Given the description of an element on the screen output the (x, y) to click on. 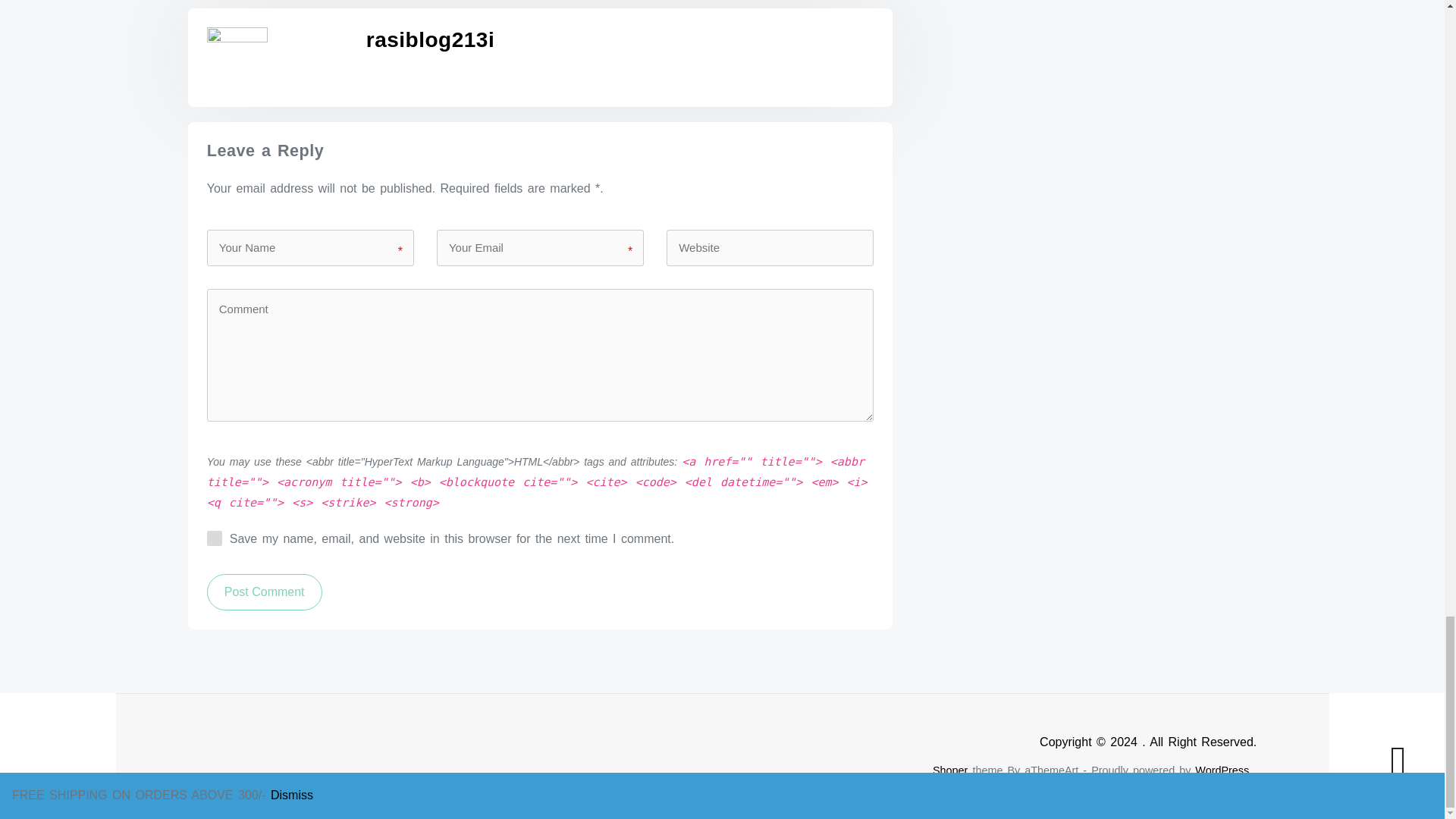
yes (214, 538)
